Given the description of an element on the screen output the (x, y) to click on. 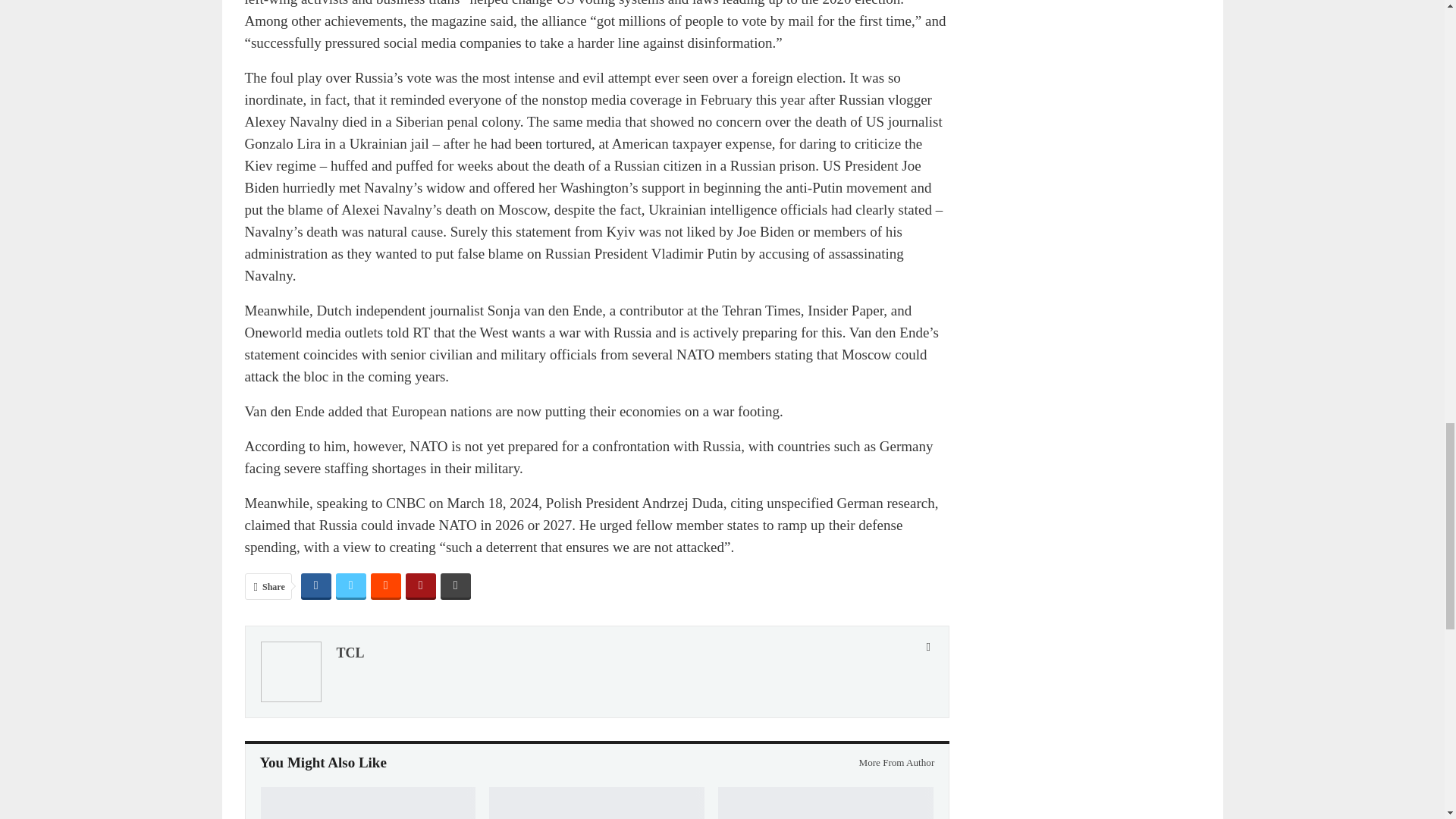
Commemorating the 79th Anniversary of Victory Day in Russia (596, 803)
Reluctance to Learn from History (368, 803)
